Given the description of an element on the screen output the (x, y) to click on. 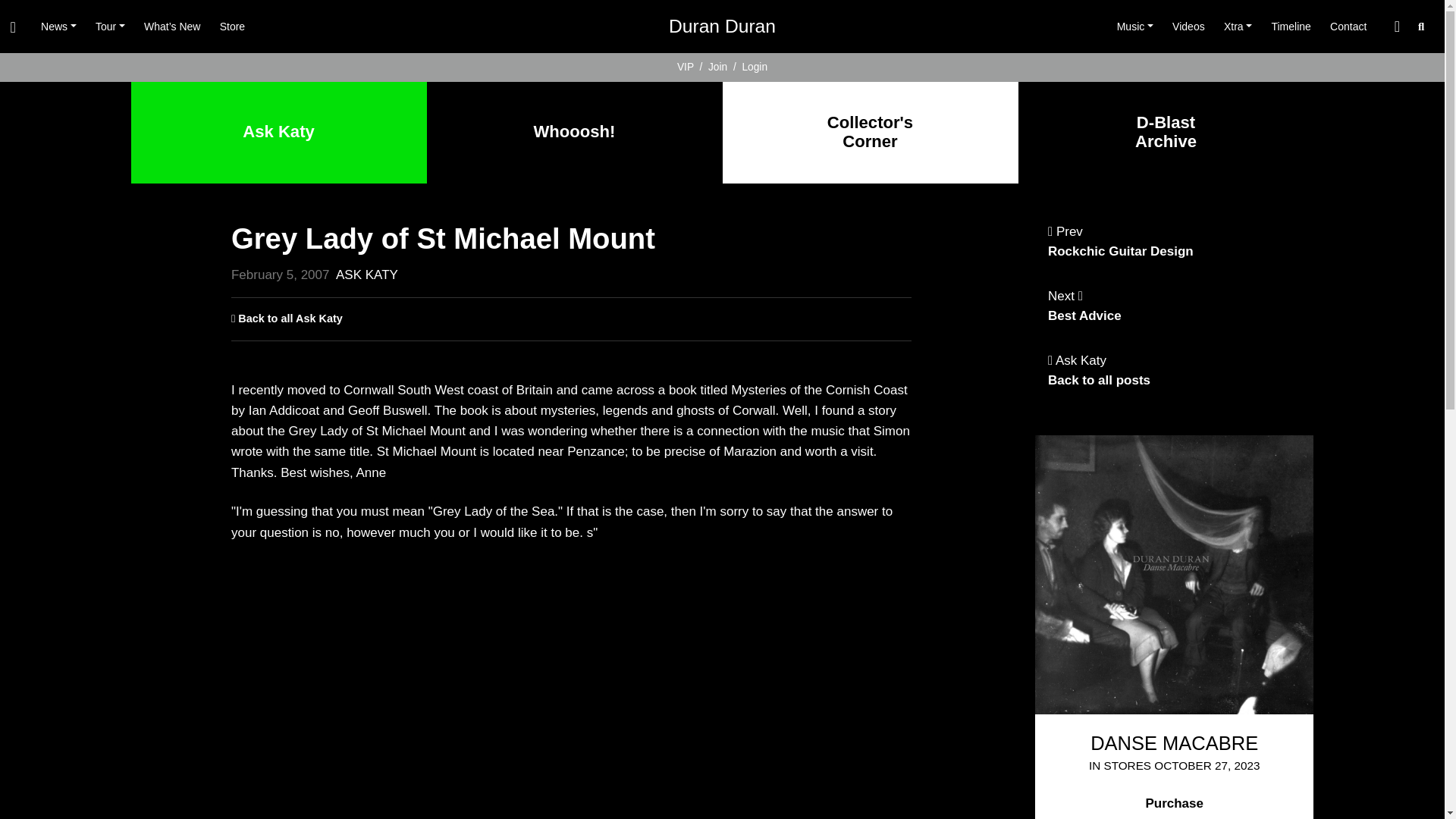
News (57, 26)
Tour (109, 26)
Duran Duran (722, 26)
Tour Dates (109, 26)
News (57, 26)
Music (1133, 26)
